Given the description of an element on the screen output the (x, y) to click on. 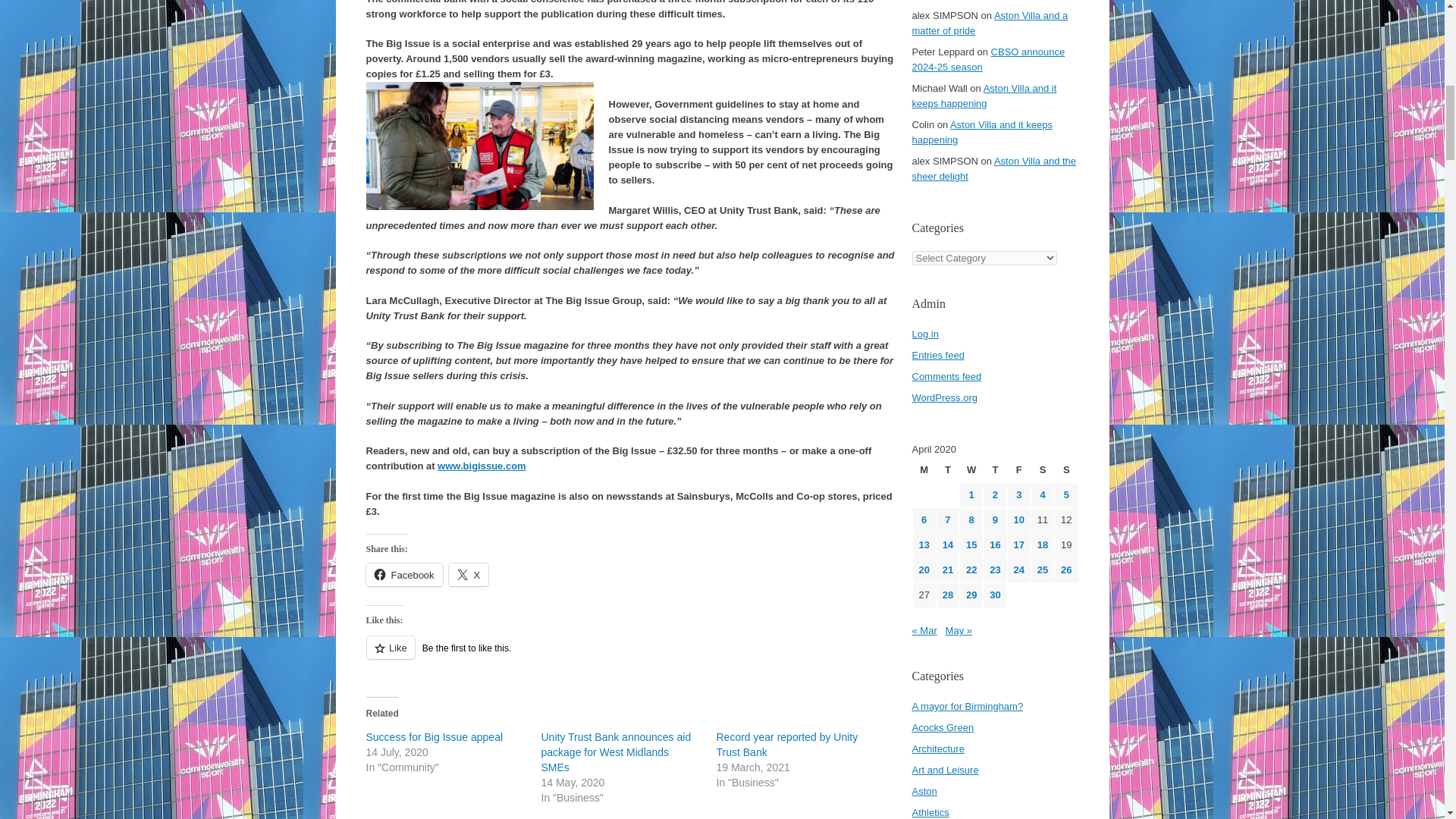
Aston Villa and a matter of pride (989, 22)
Record year reported by Unity Trust Bank (786, 744)
Facebook (403, 574)
Aston Villa and it keeps happening (981, 131)
Record year reported by Unity Trust Bank (786, 744)
X (468, 574)
Click to share on X (468, 574)
Monday (924, 469)
Success for Big Issue appeal (433, 736)
Success for Big Issue appeal (433, 736)
Click to share on Facebook (403, 574)
www.bigissue.com (481, 465)
Aston Villa and it keeps happening (984, 95)
